Given the description of an element on the screen output the (x, y) to click on. 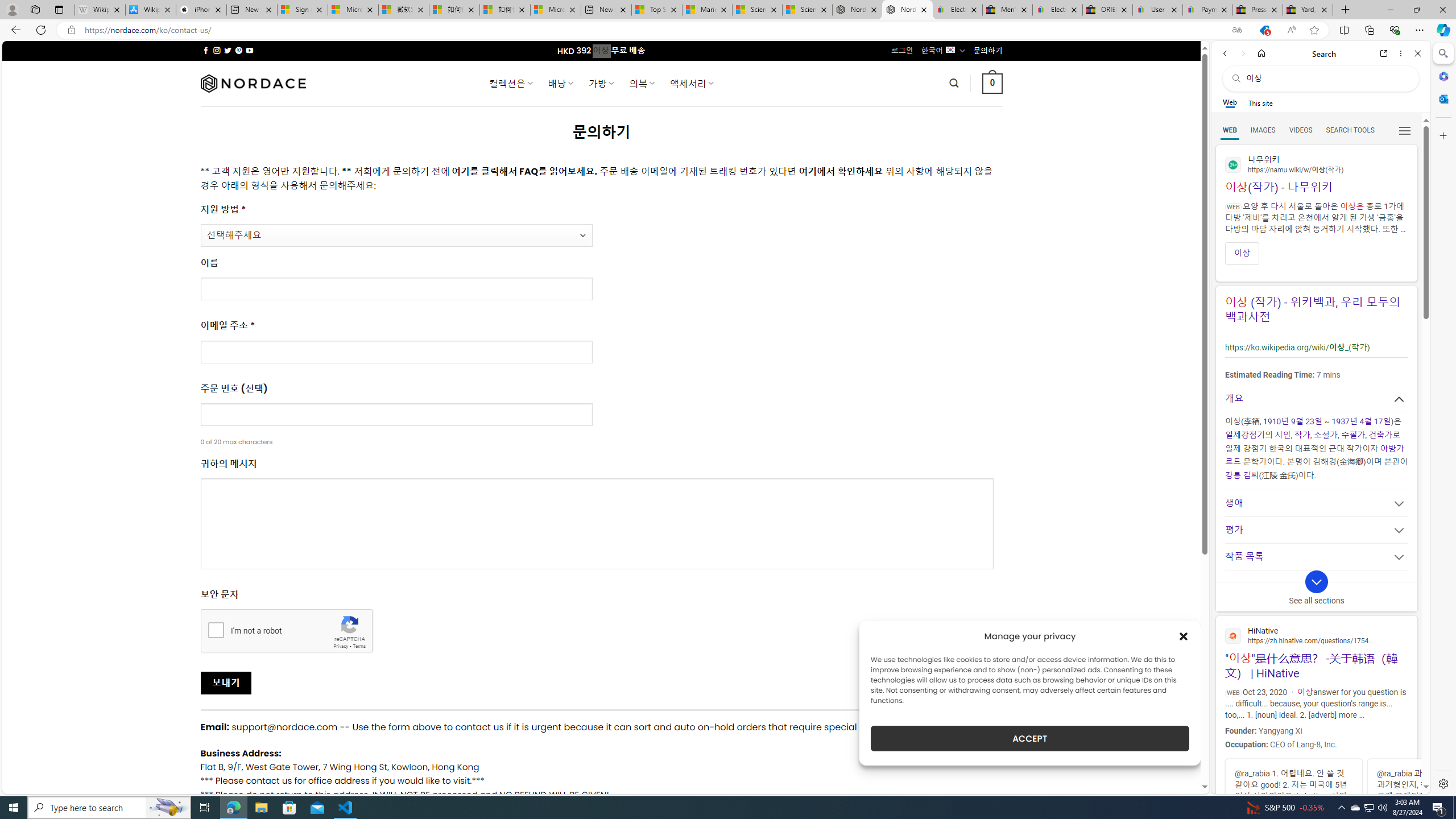
Follow on YouTube (249, 50)
Show translate options (1236, 29)
Microsoft Services Agreement (352, 9)
Web scope (1230, 102)
